Given the description of an element on the screen output the (x, y) to click on. 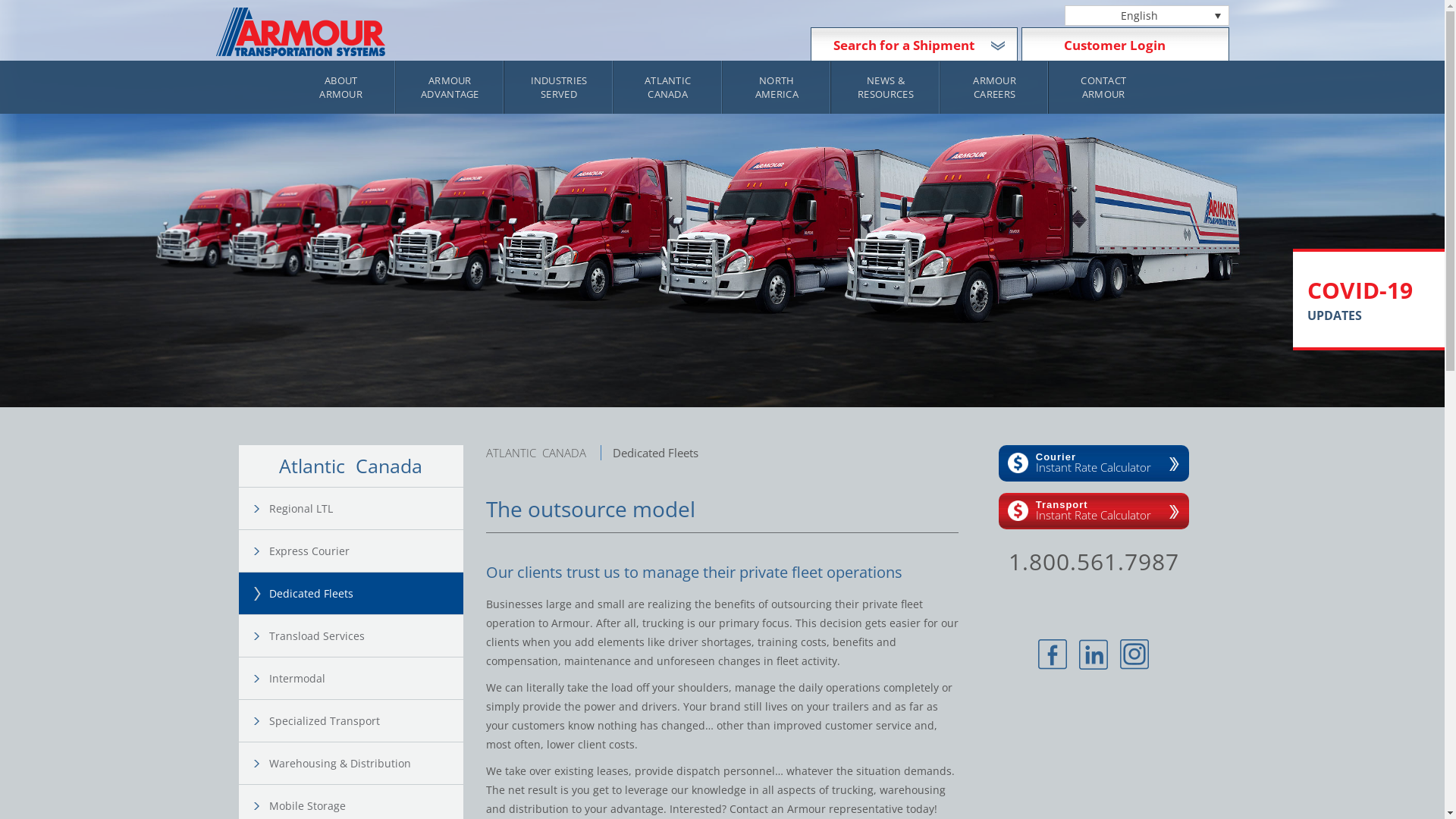
Specialized Transport Element type: text (358, 720)
Dedicated Fleets Element type: text (358, 593)
INDUSTRIES
SERVED Element type: text (558, 86)
ARMOUR
CAREERS Element type: text (994, 86)
Regional LTL Element type: text (358, 508)
NORTH
AMERICA Element type: text (776, 86)
Intermodal Element type: text (358, 678)
Transload Services Element type: text (358, 635)
COVID-19
UPDATES Element type: text (1371, 299)
Express Courier Element type: text (358, 550)
Transport
Instant Rate Calculator Element type: text (1093, 510)
ATLANTIC
CANADA Element type: text (667, 86)
English Element type: text (1146, 15)
NEWS &
RESOURCES Element type: text (885, 86)
CONTACT
ARMOUR Element type: text (1102, 86)
ABOUT
ARMOUR Element type: text (340, 86)
Courier
Instant Rate Calculator Element type: text (1093, 463)
Customer Login Element type: text (1114, 44)
ARMOUR
ADVANTAGE Element type: text (450, 86)
Warehousing & Distribution Element type: text (358, 763)
